Given the description of an element on the screen output the (x, y) to click on. 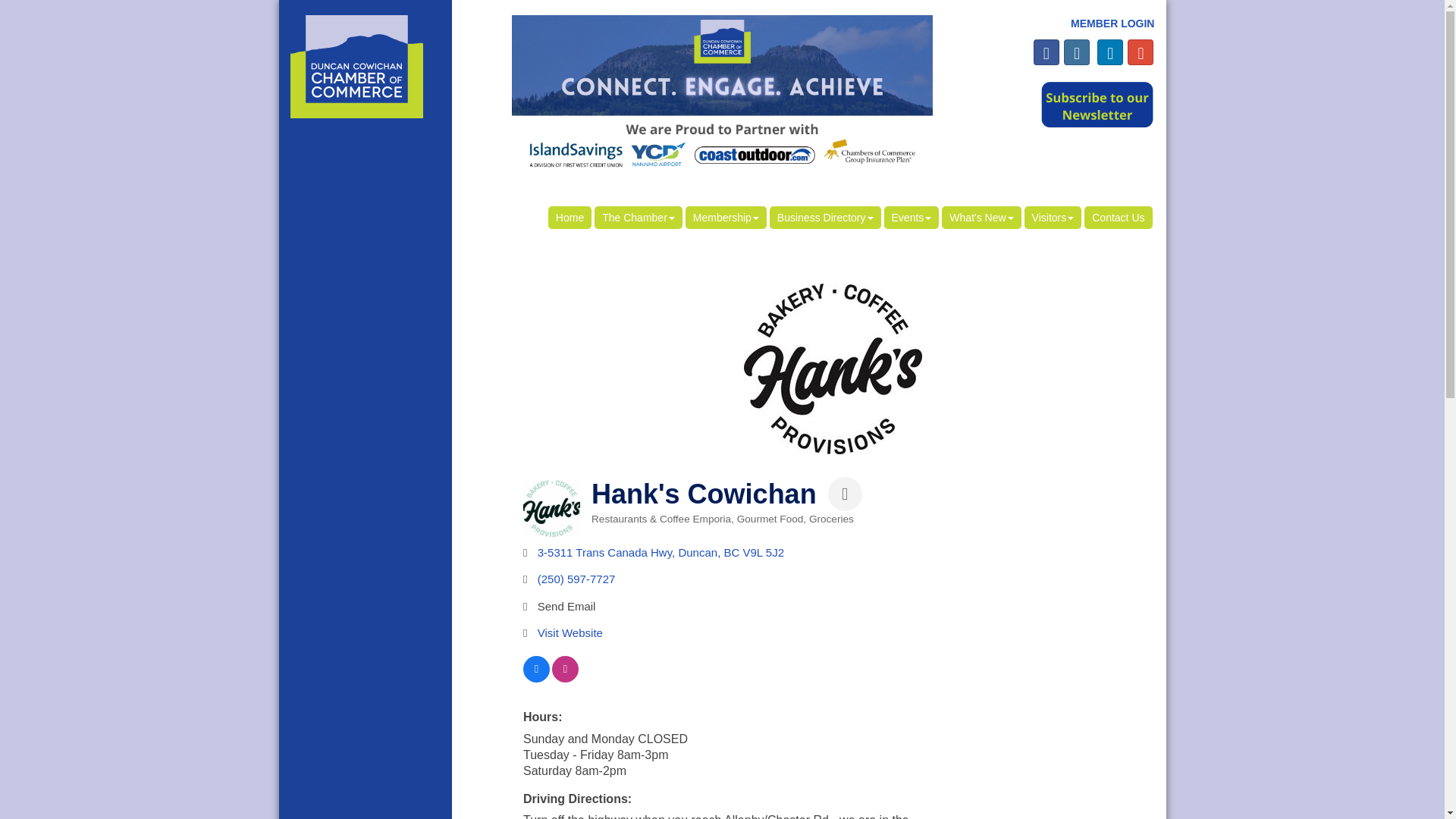
Events (911, 217)
The Chamber (638, 217)
Icon Link (1046, 52)
What's New (981, 217)
Membership (726, 217)
Hank's Cowichan (550, 508)
Business Directory (825, 217)
Hank's Cowichan (832, 368)
Contact Us (1117, 217)
MEMBER LOGIN (1112, 22)
